Given the description of an element on the screen output the (x, y) to click on. 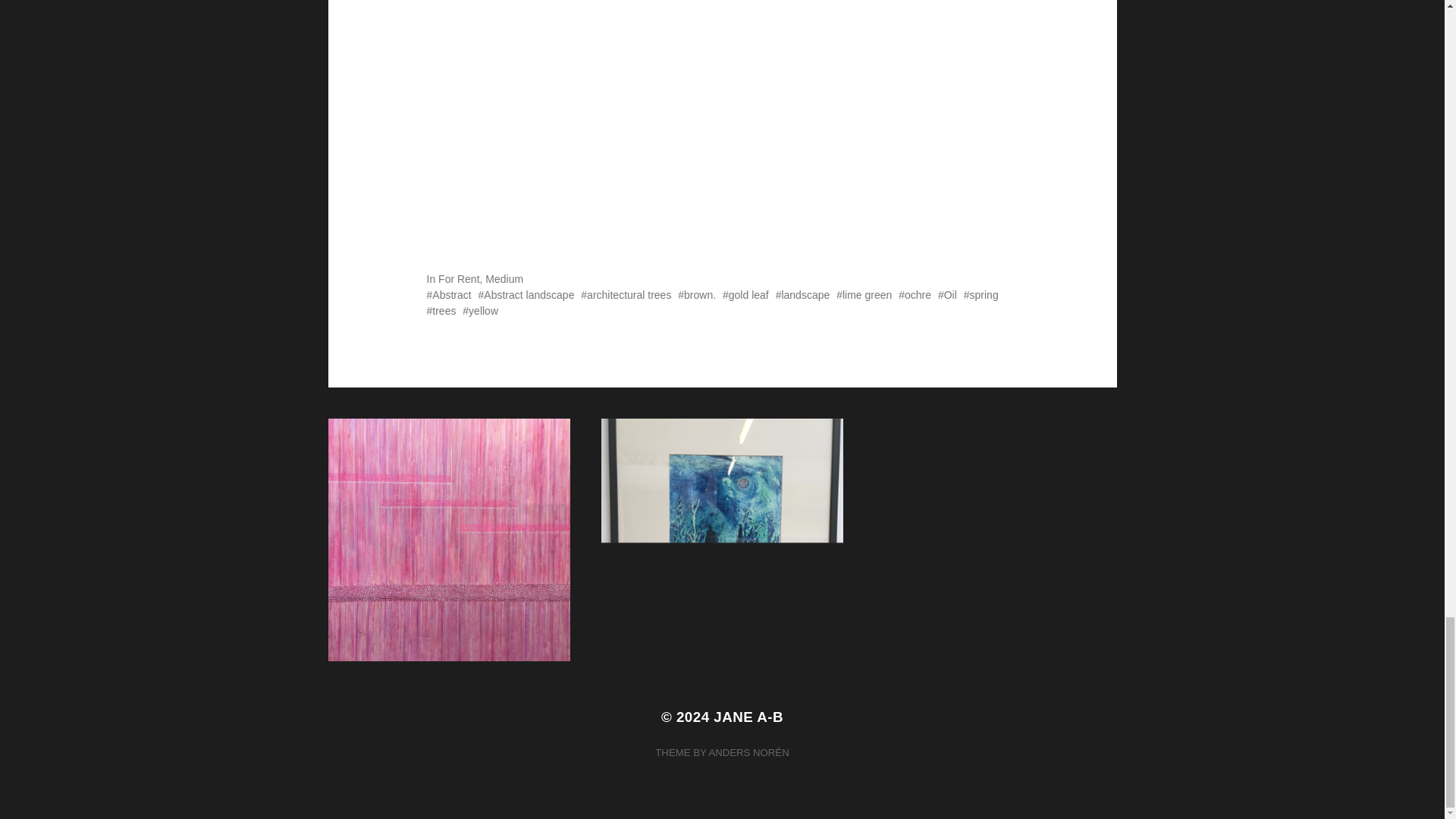
gold leaf (745, 295)
Oil (946, 295)
lime green (863, 295)
Abstract landscape (527, 295)
Medium (503, 278)
Abstract (448, 295)
spring (980, 295)
For Rent (458, 278)
ochre (914, 295)
brown. (697, 295)
